Given the description of an element on the screen output the (x, y) to click on. 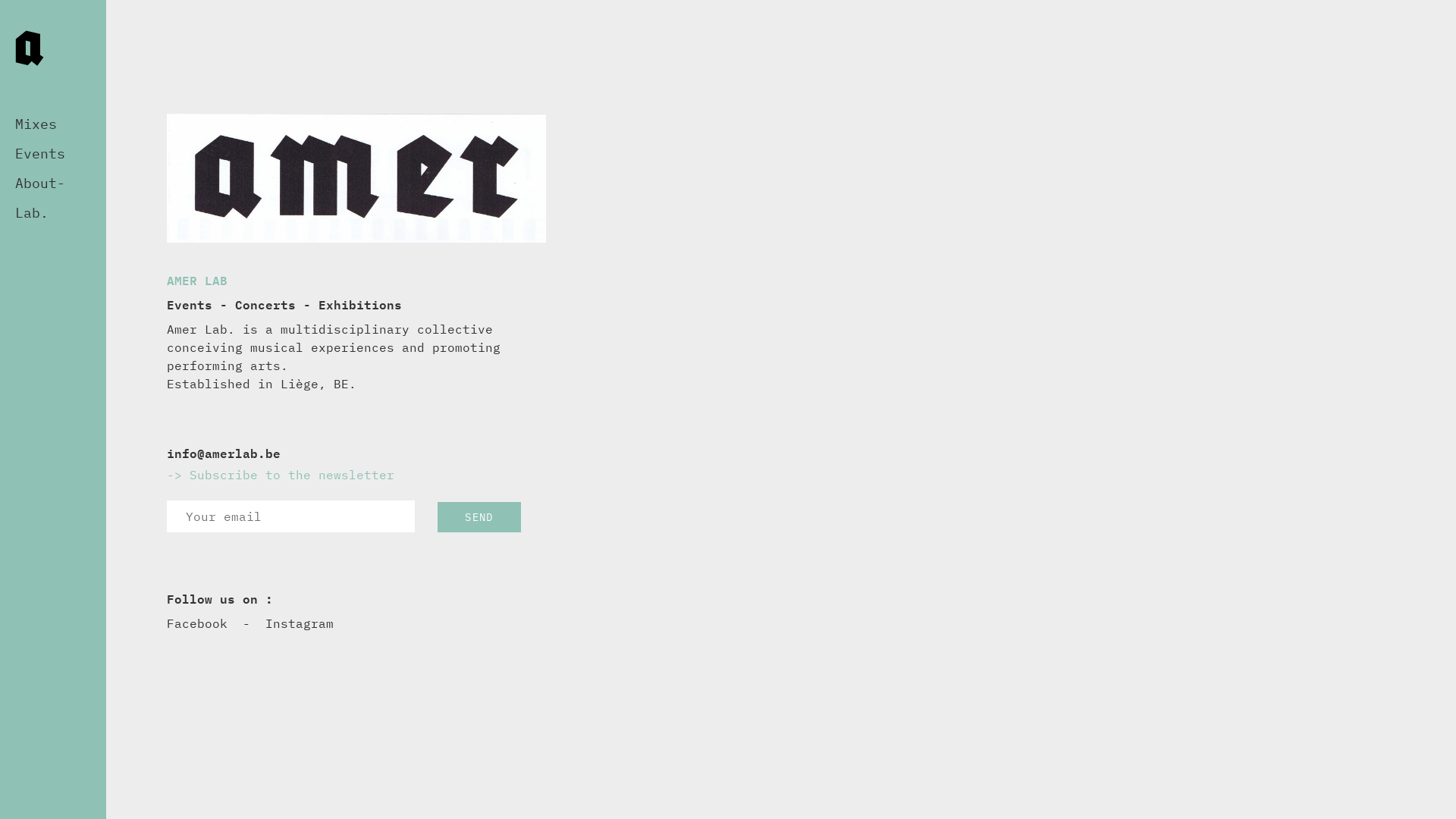
info@amerlab.be Element type: text (223, 453)
Facebook Element type: text (196, 622)
Mixes Element type: text (28, 123)
About Element type: text (32, 182)
Lab. Element type: text (24, 212)
Instagram Element type: text (299, 622)
Events Element type: text (32, 153)
SEND Element type: text (478, 517)
